Given the description of an element on the screen output the (x, y) to click on. 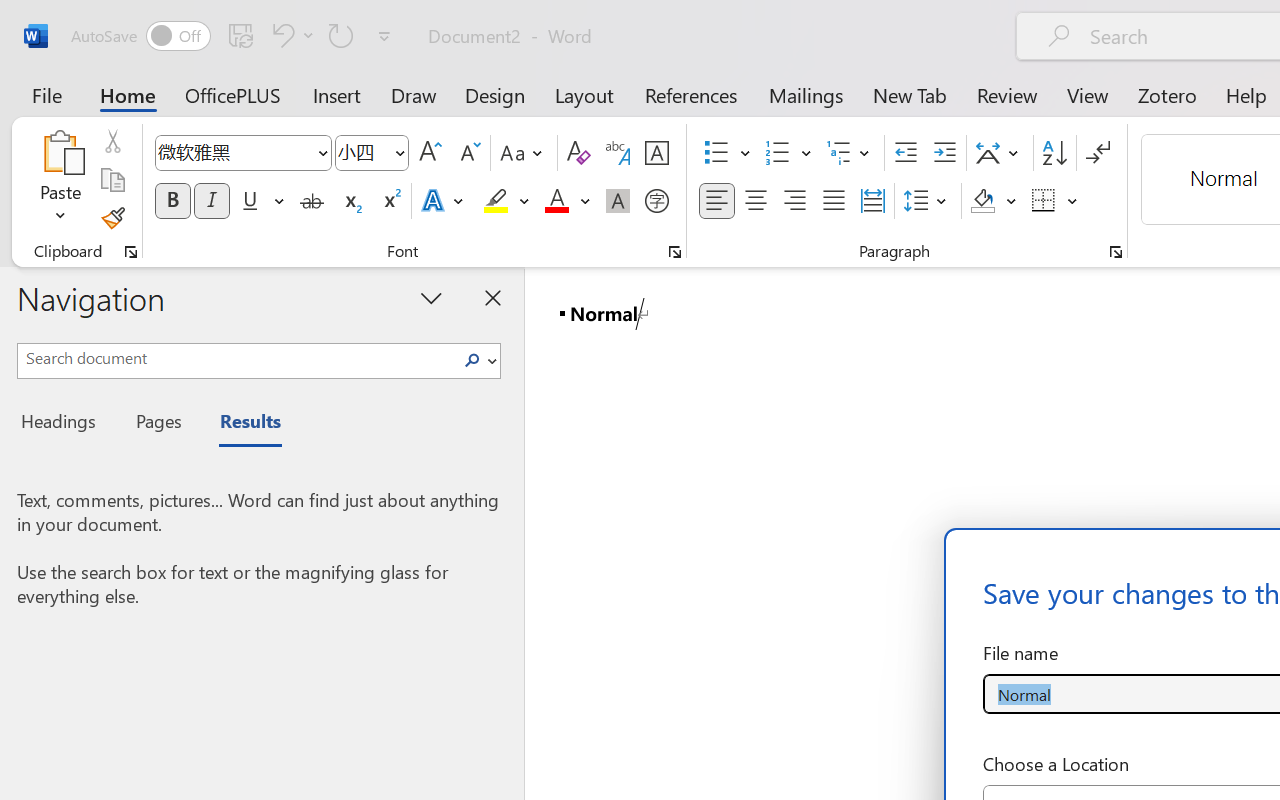
Decrease Indent (906, 153)
Bullets (727, 153)
Format Painter (112, 218)
Grow Font (430, 153)
Headings (64, 424)
Search document (236, 358)
Shading RGB(0, 0, 0) (982, 201)
Paste (60, 151)
Paragraph... (1115, 252)
Clear Formatting (578, 153)
Results (240, 424)
Line and Paragraph Spacing (927, 201)
Asian Layout (1000, 153)
OfficePLUS (233, 94)
Numbering (778, 153)
